Given the description of an element on the screen output the (x, y) to click on. 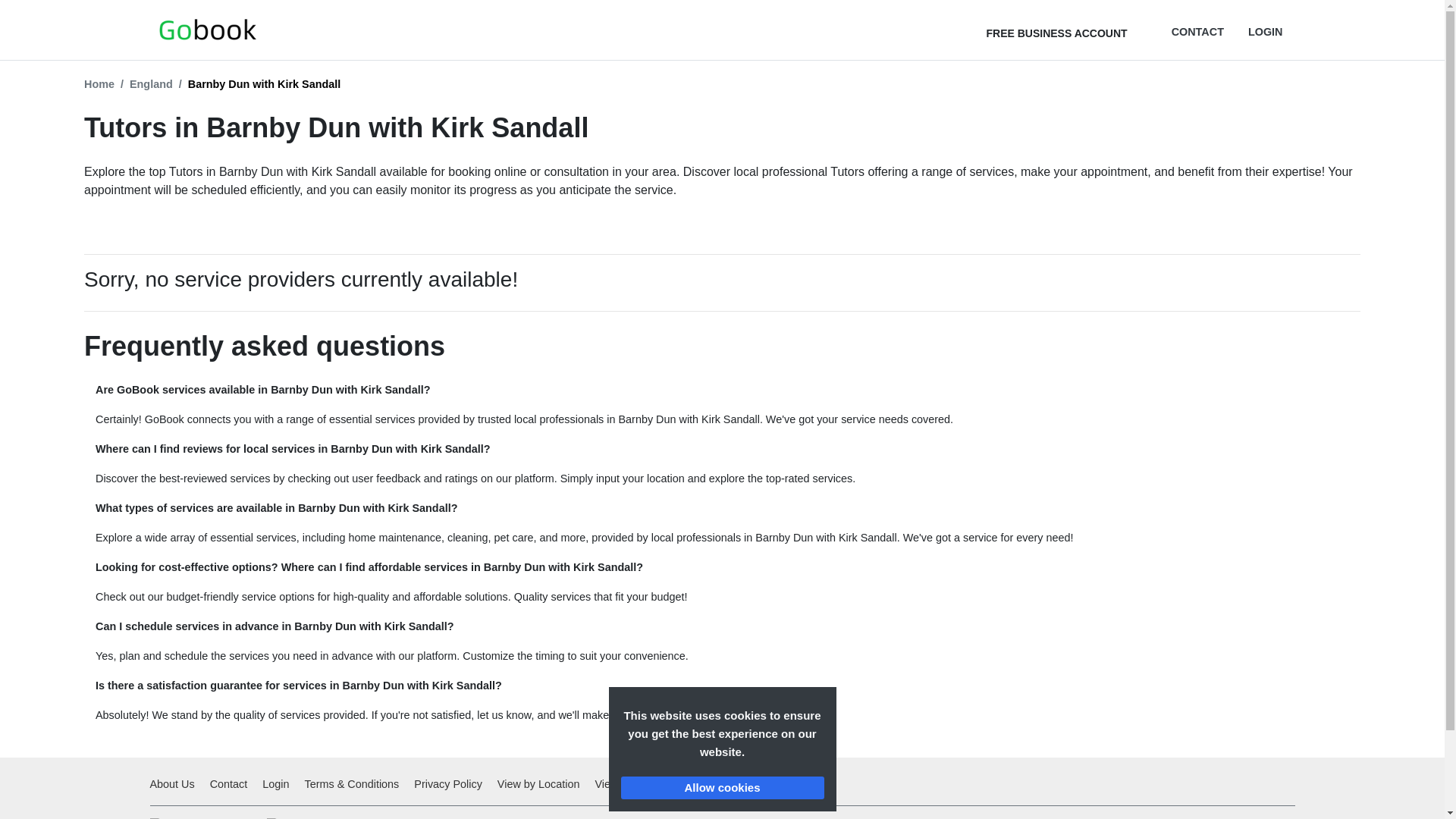
View by Location (539, 784)
Home (99, 84)
View by Services (635, 784)
England (151, 84)
Privacy Policy (447, 784)
LOGIN (1264, 29)
FREE BUSINESS ACCOUNT (1060, 30)
CONTACT (1198, 29)
About Us (174, 784)
Contact (228, 784)
Login (275, 784)
